Given the description of an element on the screen output the (x, y) to click on. 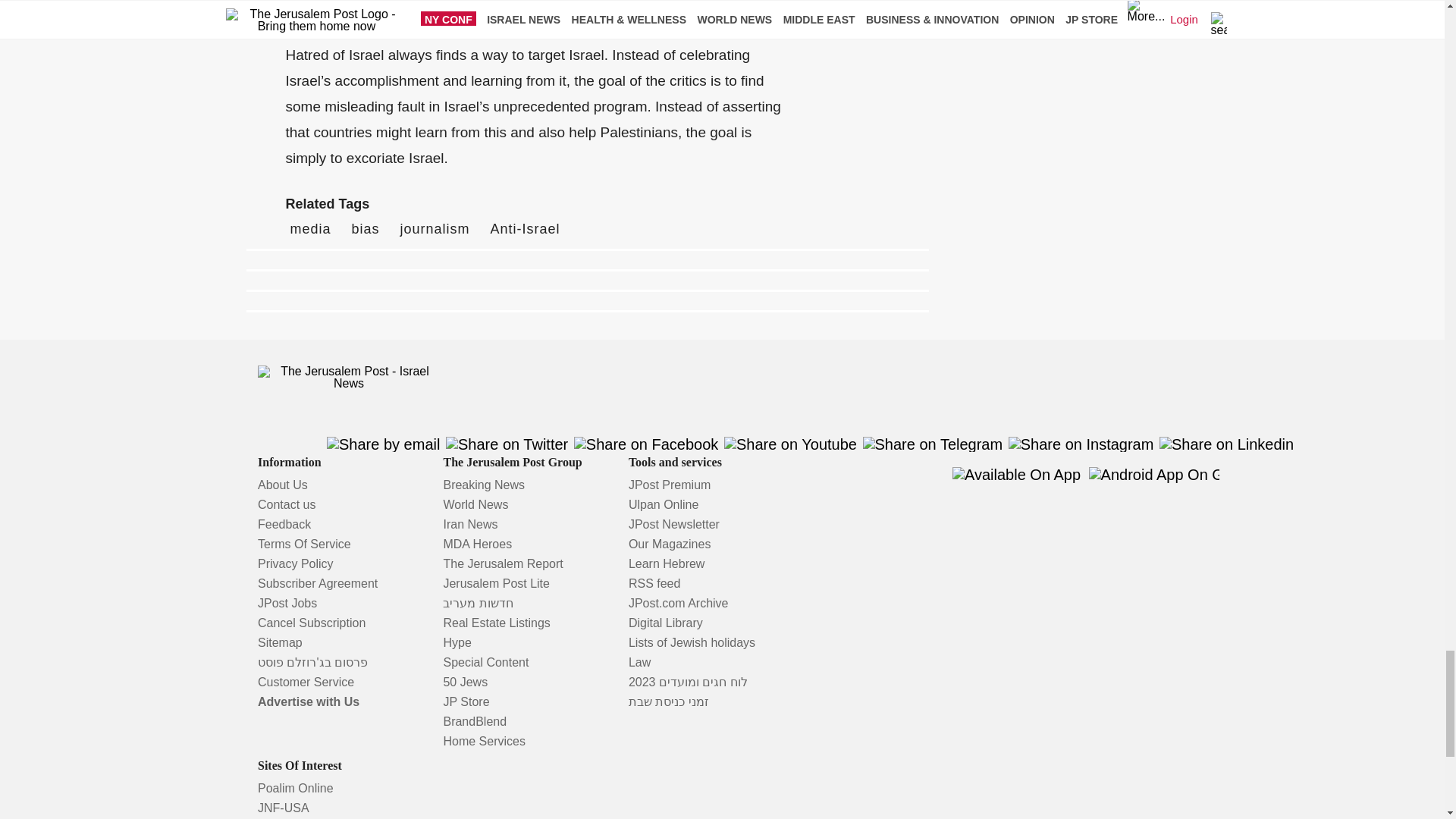
journalism (435, 228)
media (309, 228)
media (309, 228)
bias (366, 228)
bias (366, 228)
Anti-Israel (525, 228)
journalism (435, 228)
Anti-Israel (525, 228)
